Given the description of an element on the screen output the (x, y) to click on. 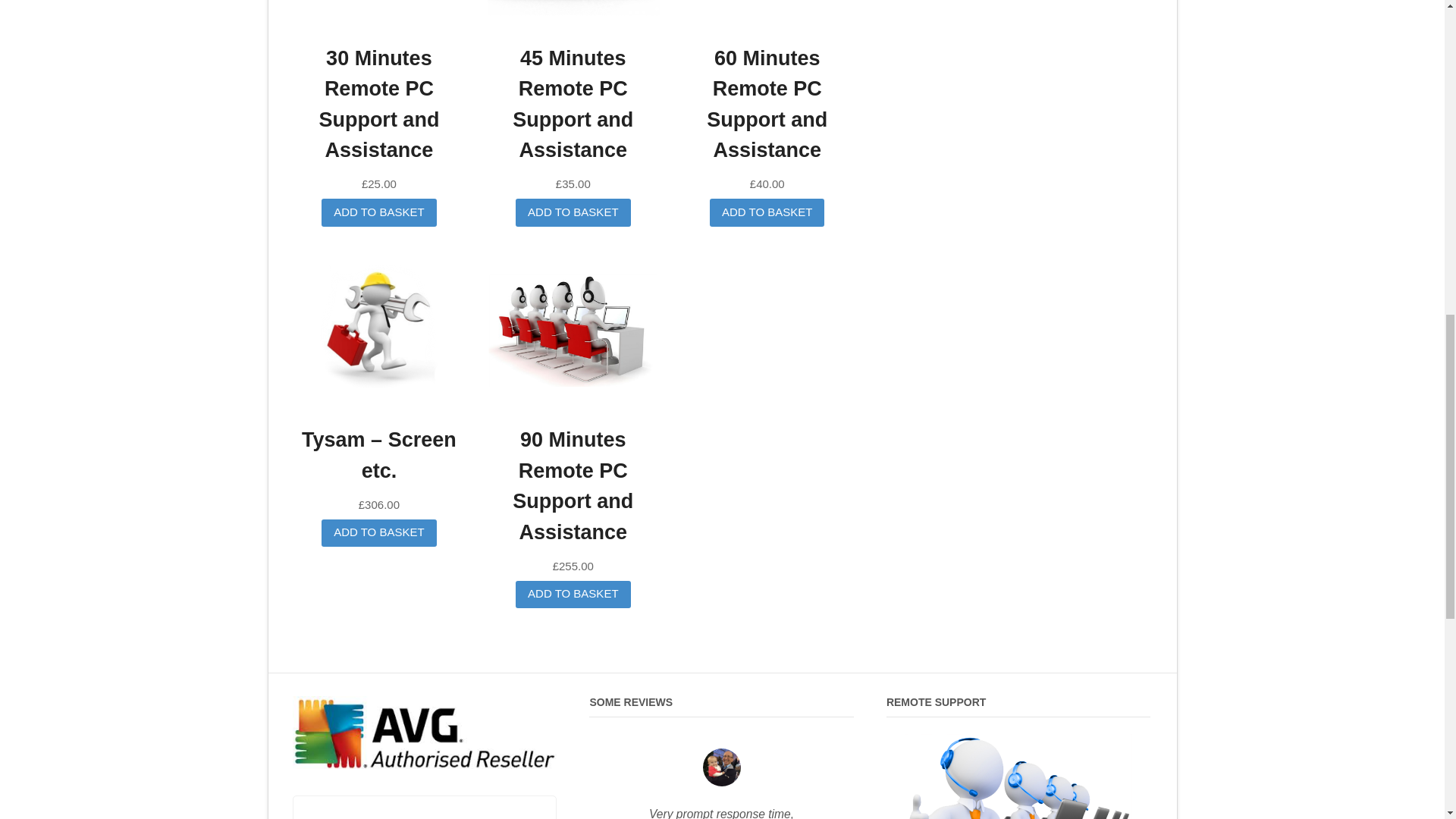
ADD TO BASKET (378, 212)
ADD TO BASKET (767, 212)
ADD TO BASKET (572, 212)
ADD TO BASKET (378, 533)
ADD TO BASKET (572, 594)
